Given the description of an element on the screen output the (x, y) to click on. 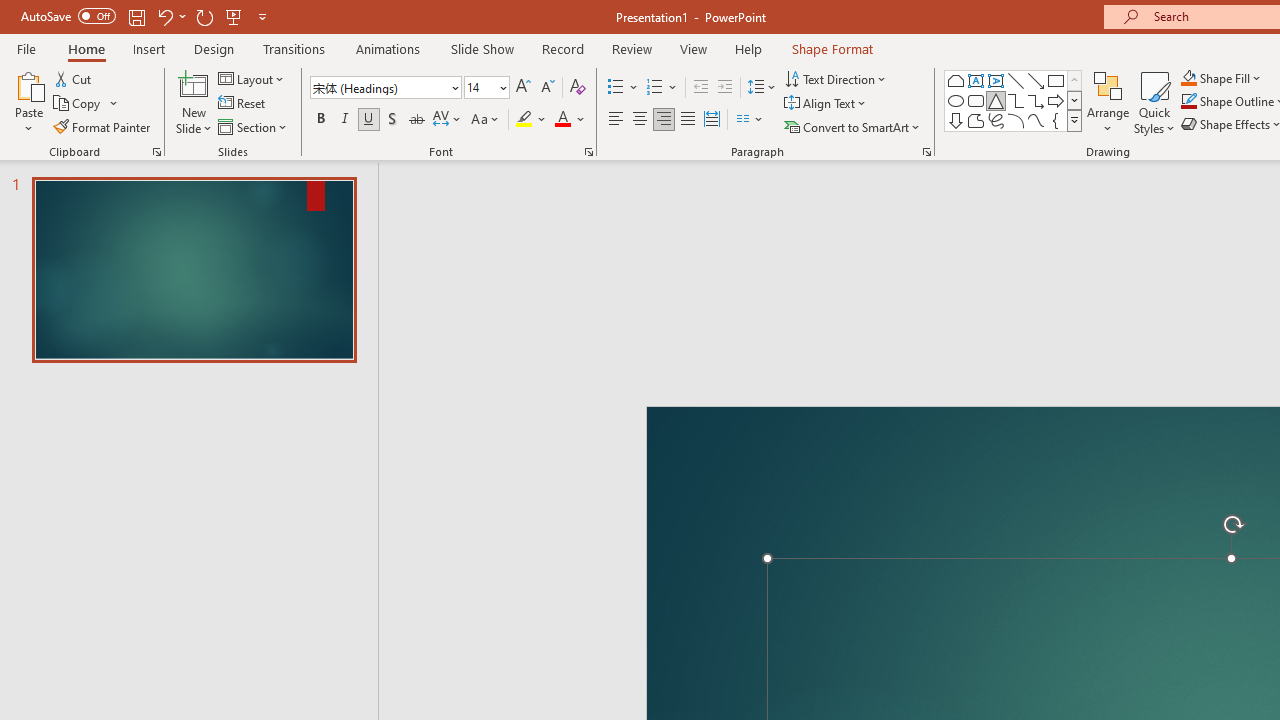
Rectangle: Top Corners Snipped (955, 80)
